Given the description of an element on the screen output the (x, y) to click on. 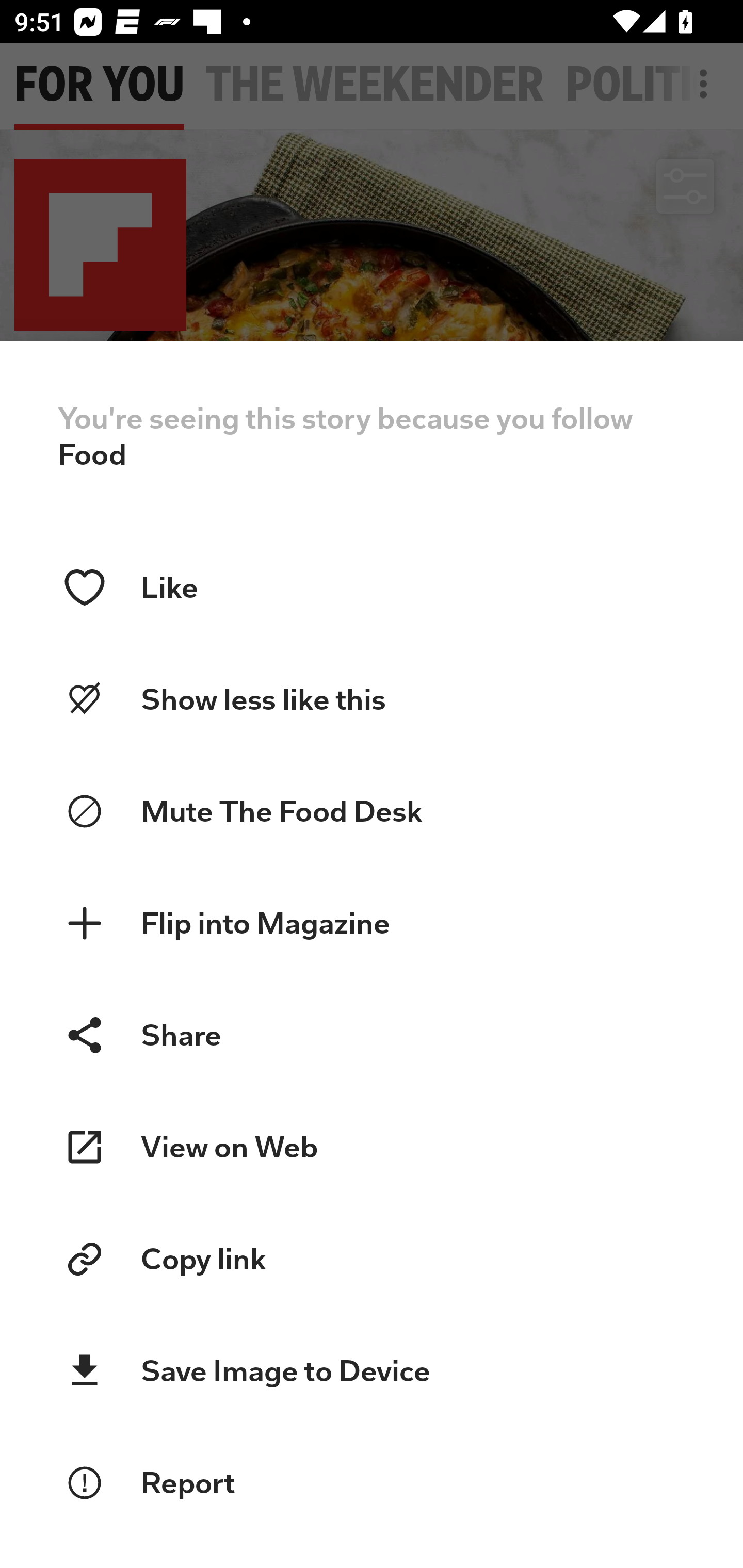
Like (371, 587)
Show less like this (371, 699)
Mute The Food Desk (371, 811)
Flip into Magazine (371, 923)
Share (371, 1035)
View on Web (371, 1146)
Copy link (371, 1258)
Save Image to Device (371, 1370)
Report (371, 1482)
